Given the description of an element on the screen output the (x, y) to click on. 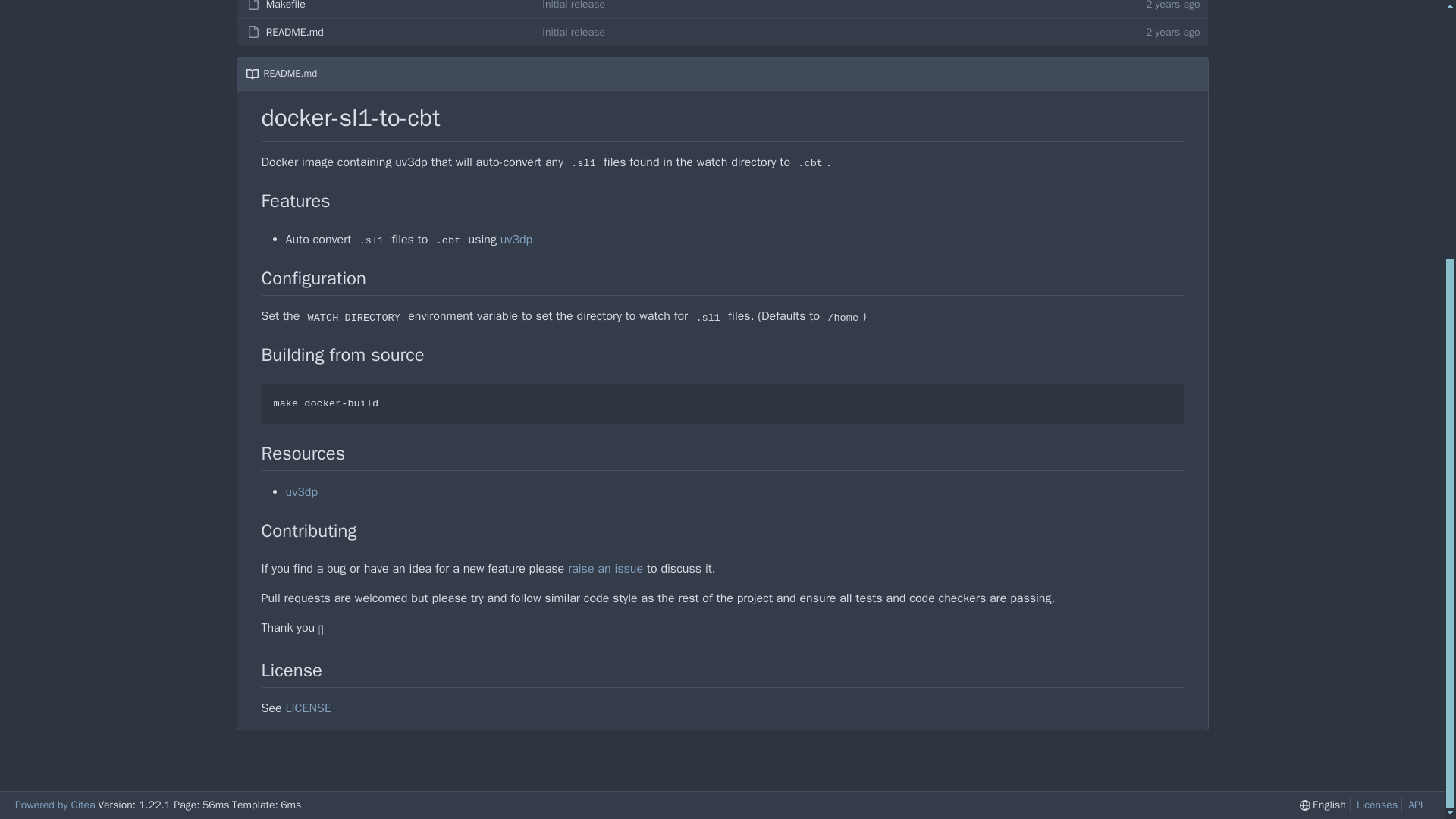
Makefile (285, 8)
